Given the description of an element on the screen output the (x, y) to click on. 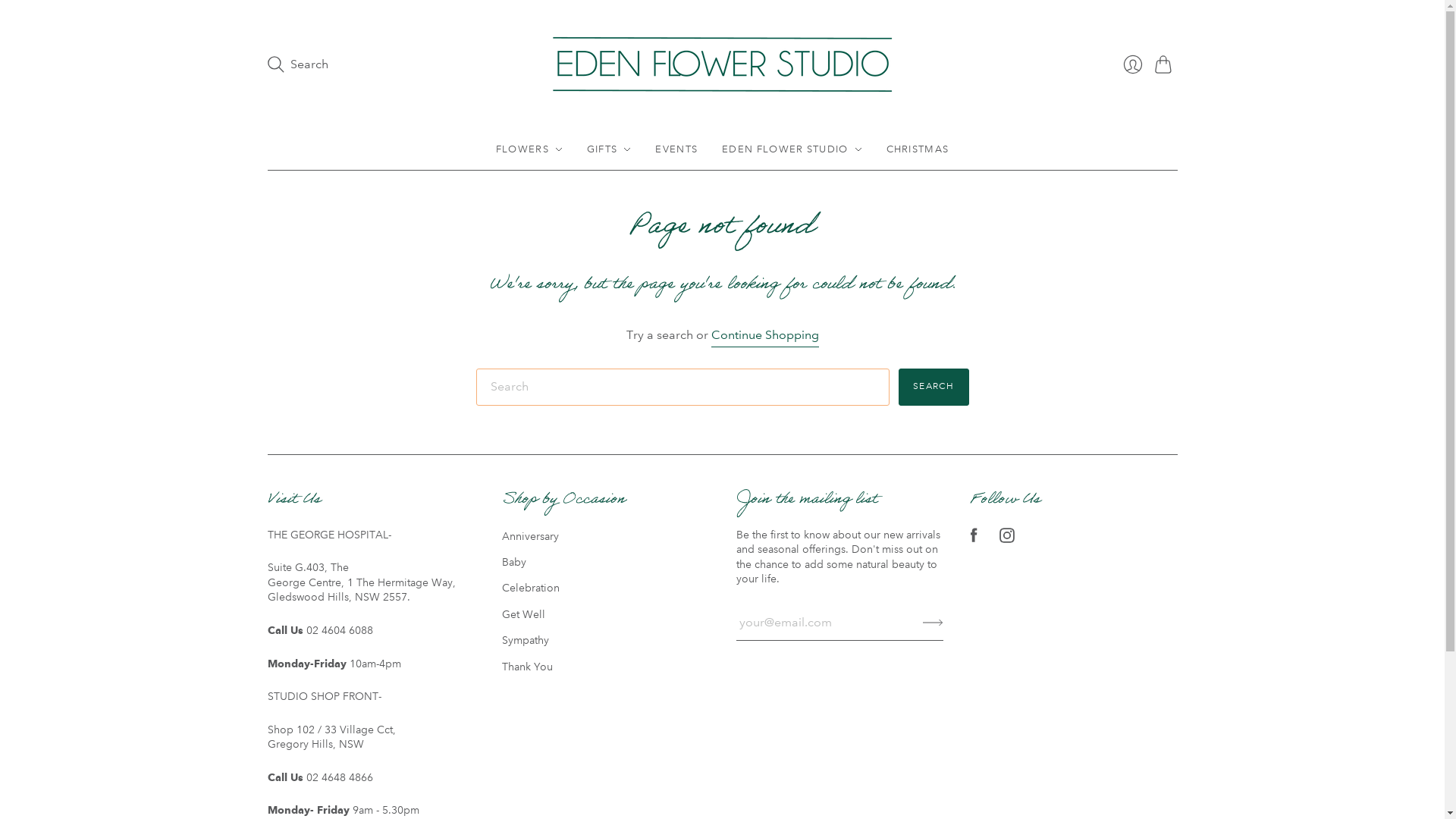
CHRISTMAS Element type: text (917, 149)
EVENTS Element type: text (676, 149)
Anniversary Element type: text (530, 535)
Baby Element type: text (514, 561)
Get Well Element type: text (523, 614)
Continue Shopping Element type: text (765, 335)
Celebration Element type: text (530, 587)
Sympathy Element type: text (525, 639)
Thank You Element type: text (527, 666)
Login Element type: text (1132, 64)
SEARCH Element type: text (933, 386)
Cart Element type: text (1165, 64)
Search Element type: text (296, 64)
